Given the description of an element on the screen output the (x, y) to click on. 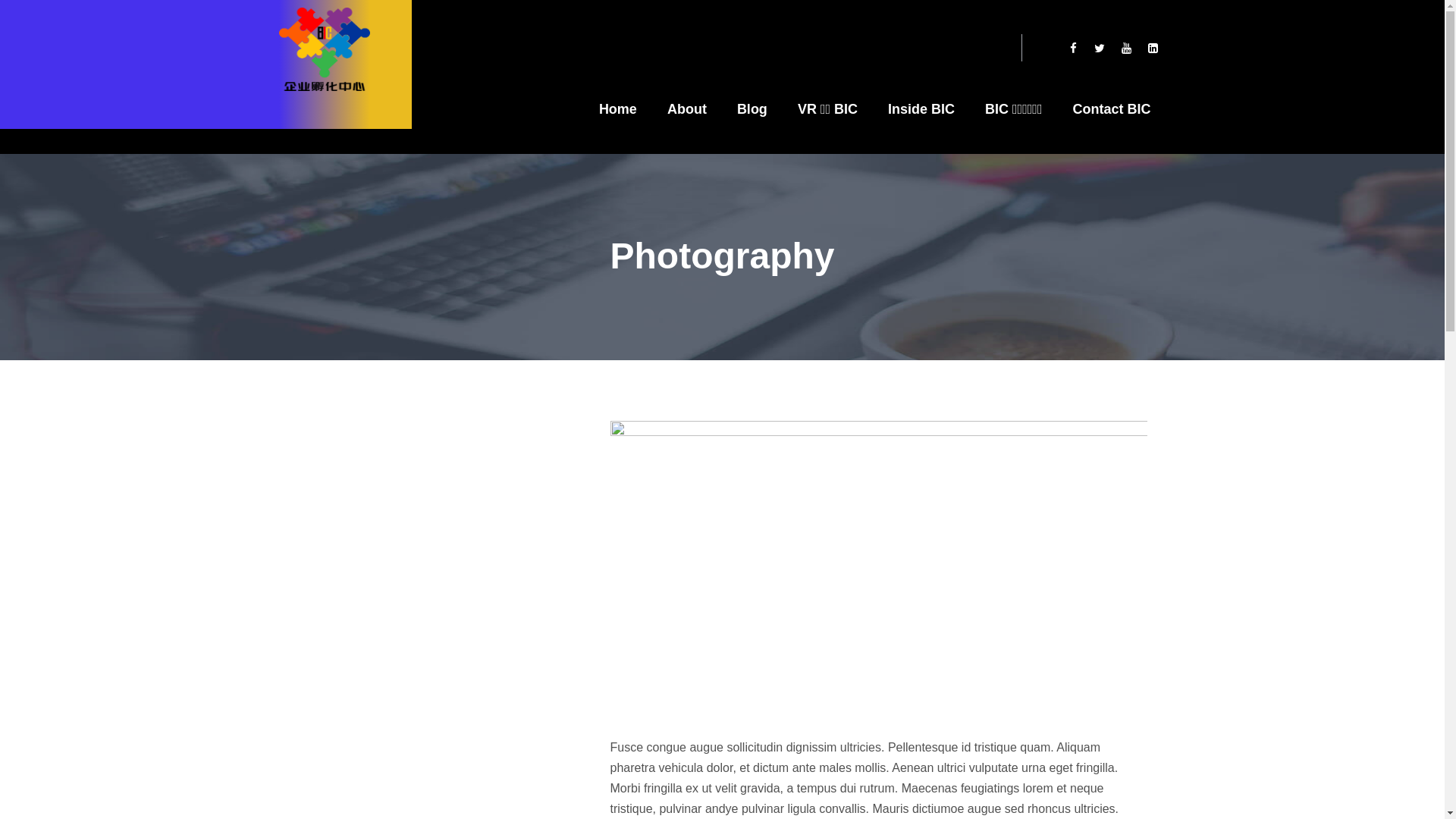
youtube Element type: hover (1126, 47)
About Element type: text (686, 107)
Contact BIC Element type: text (1111, 107)
facebook Element type: hover (1073, 47)
Home Element type: text (617, 107)
Blog Element type: text (751, 107)
Inside BIC Element type: text (920, 107)
linkedin Element type: hover (1152, 47)
twitter Element type: hover (1098, 47)
Business Incubation Center Element type: hover (324, 49)
